Given the description of an element on the screen output the (x, y) to click on. 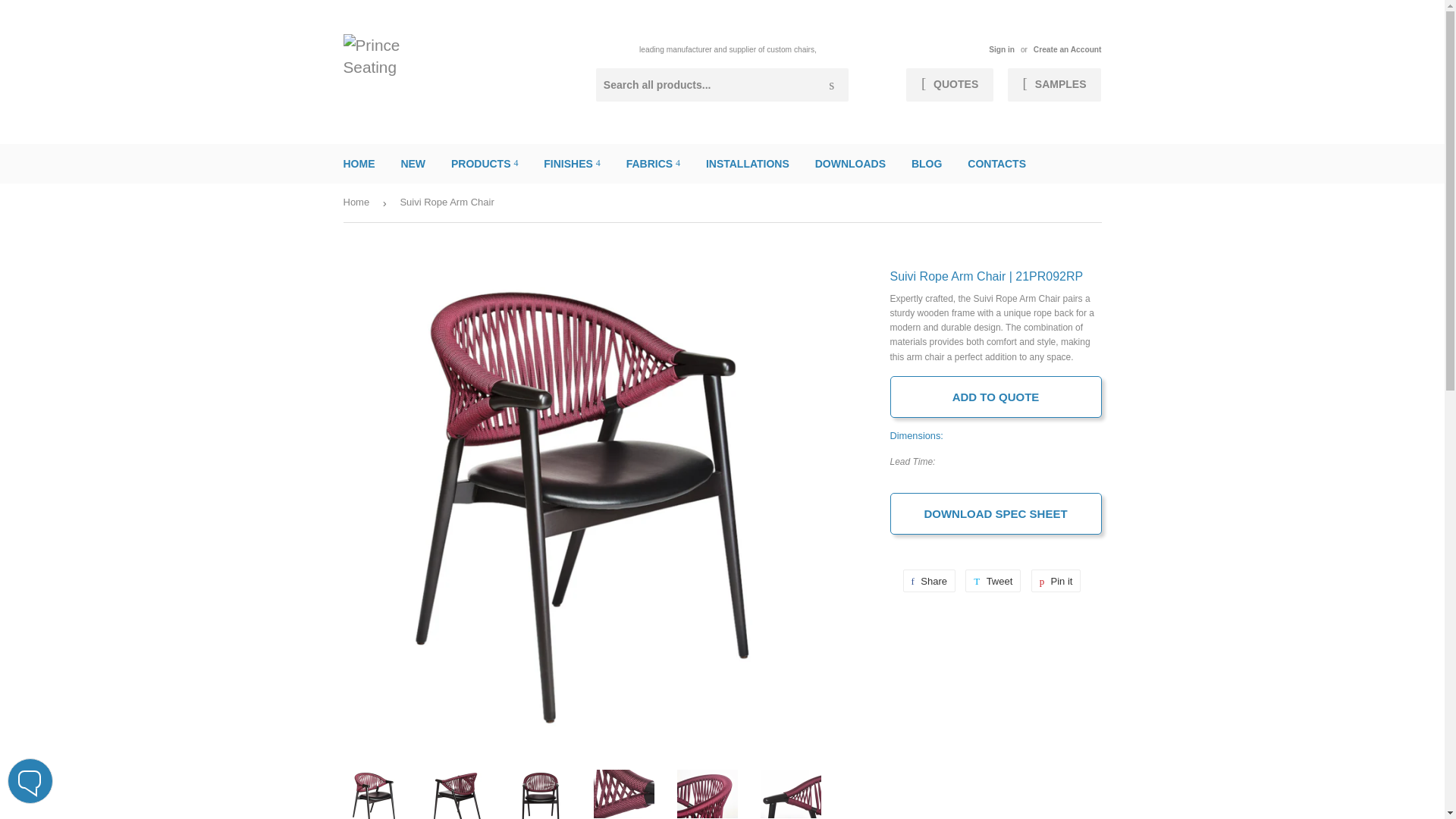
Create an Account (1067, 49)
QUOTES (948, 84)
SAMPLES (1054, 84)
Sign in (1001, 49)
Tweet on Twitter (992, 580)
Share on Facebook (928, 580)
Pin on Pinterest (1055, 580)
Search (830, 85)
Back to the frontpage (358, 202)
